Given the description of an element on the screen output the (x, y) to click on. 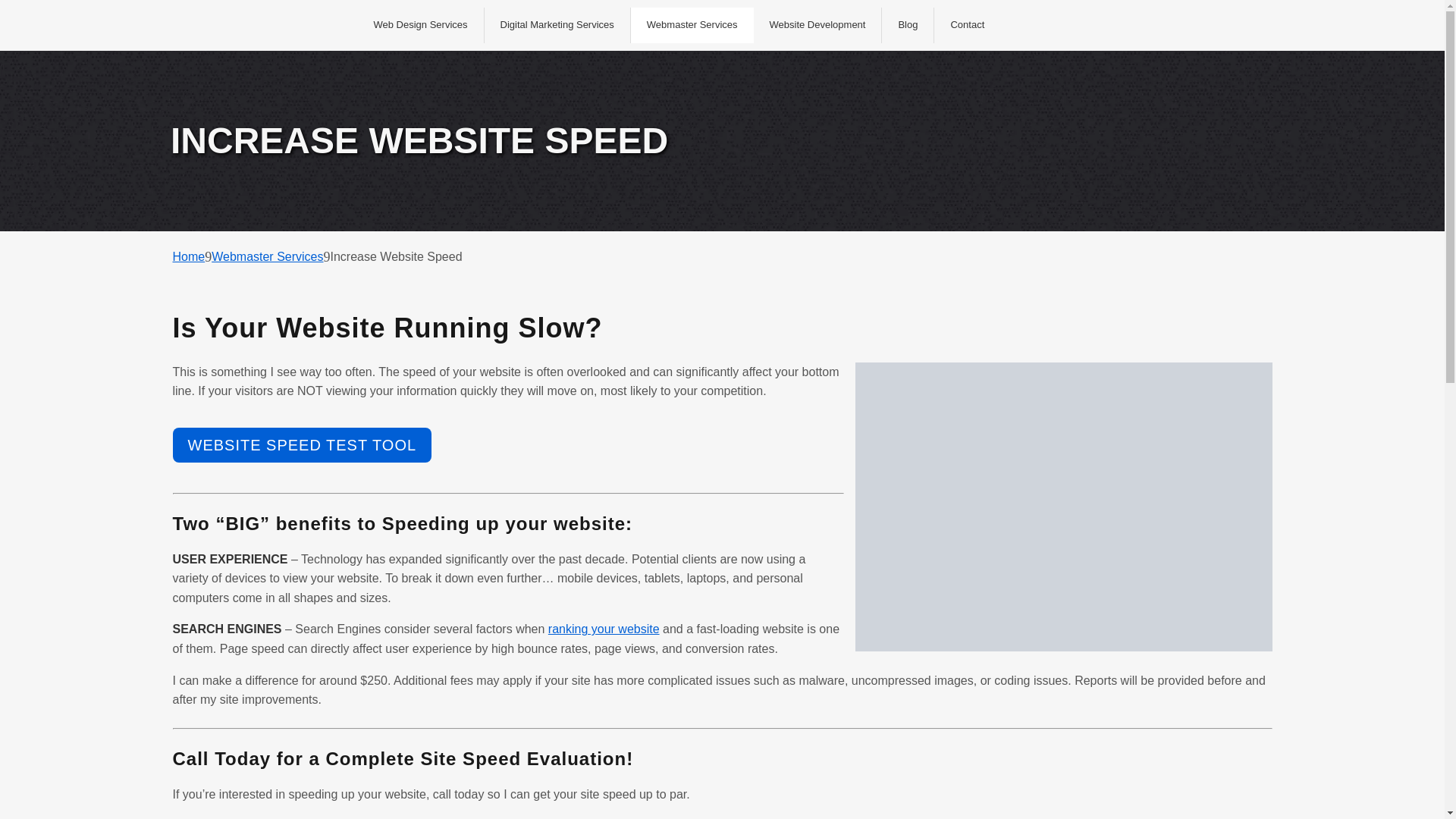
Web Design Services (419, 25)
Webmaster Services (692, 25)
Website Development (817, 25)
Contact (966, 25)
Web Design Services (419, 25)
Blog (906, 25)
Digital Marketing Services (557, 25)
Website Development (817, 25)
Contact (966, 25)
